Given the description of an element on the screen output the (x, y) to click on. 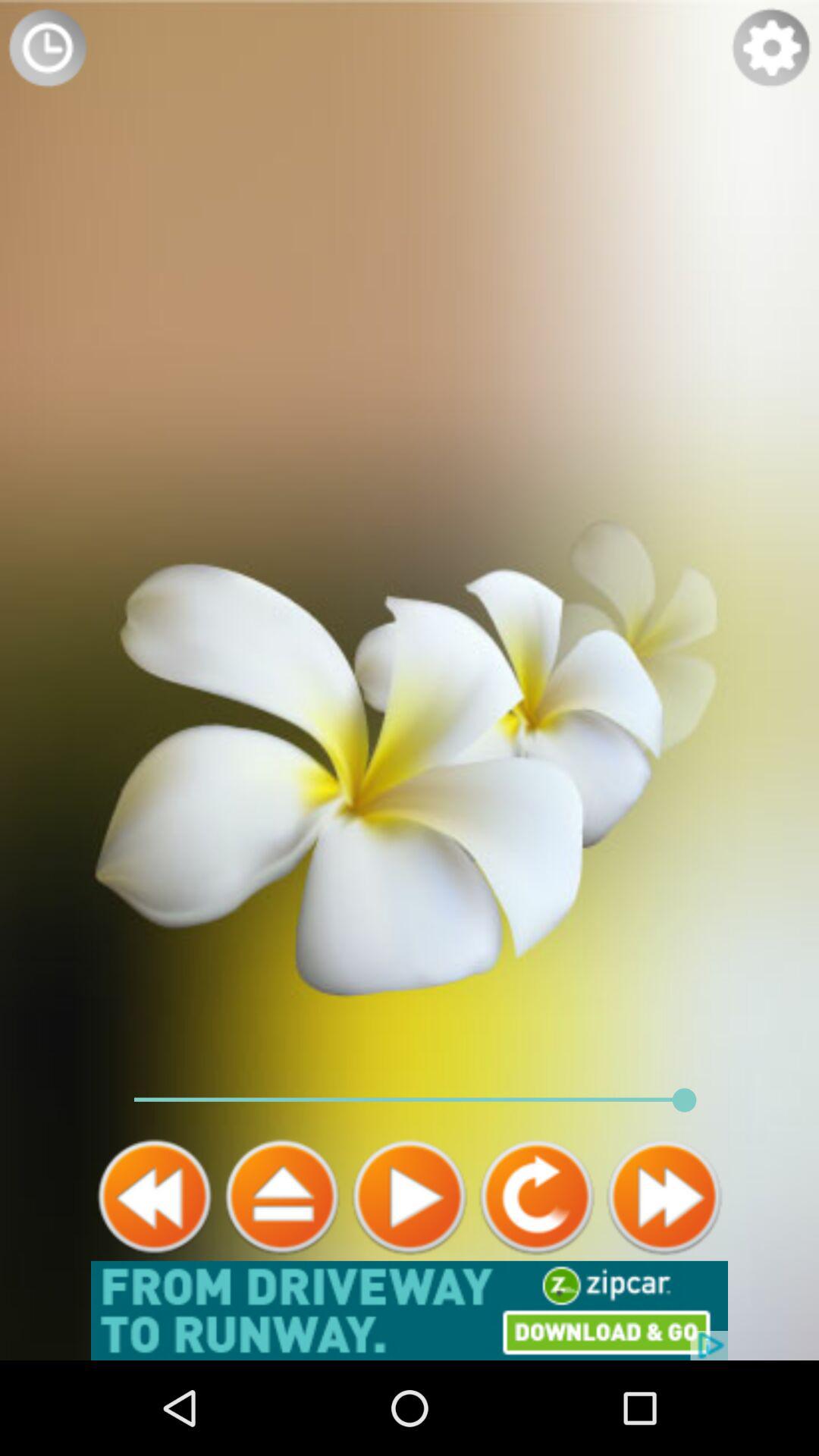
next recording (664, 1196)
